Given the description of an element on the screen output the (x, y) to click on. 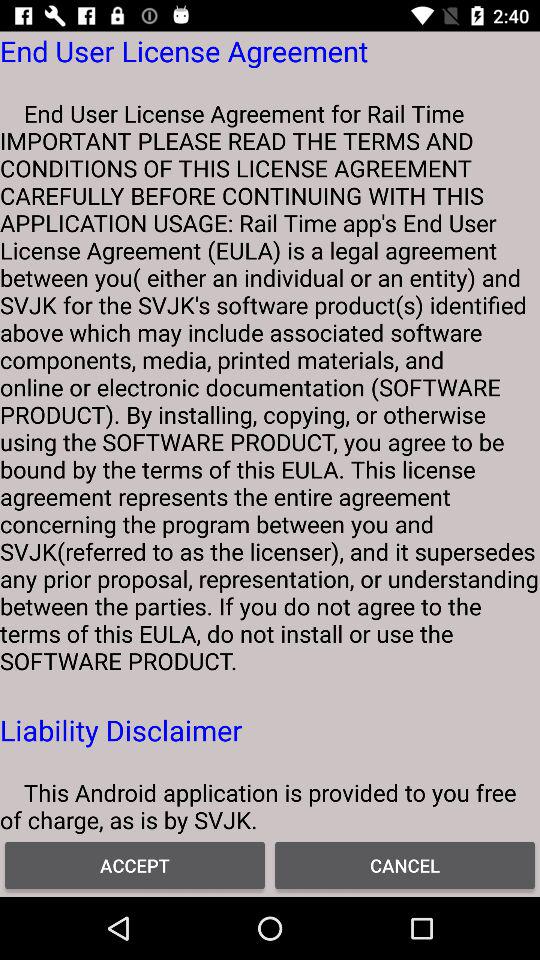
turn off the accept button (135, 864)
